Given the description of an element on the screen output the (x, y) to click on. 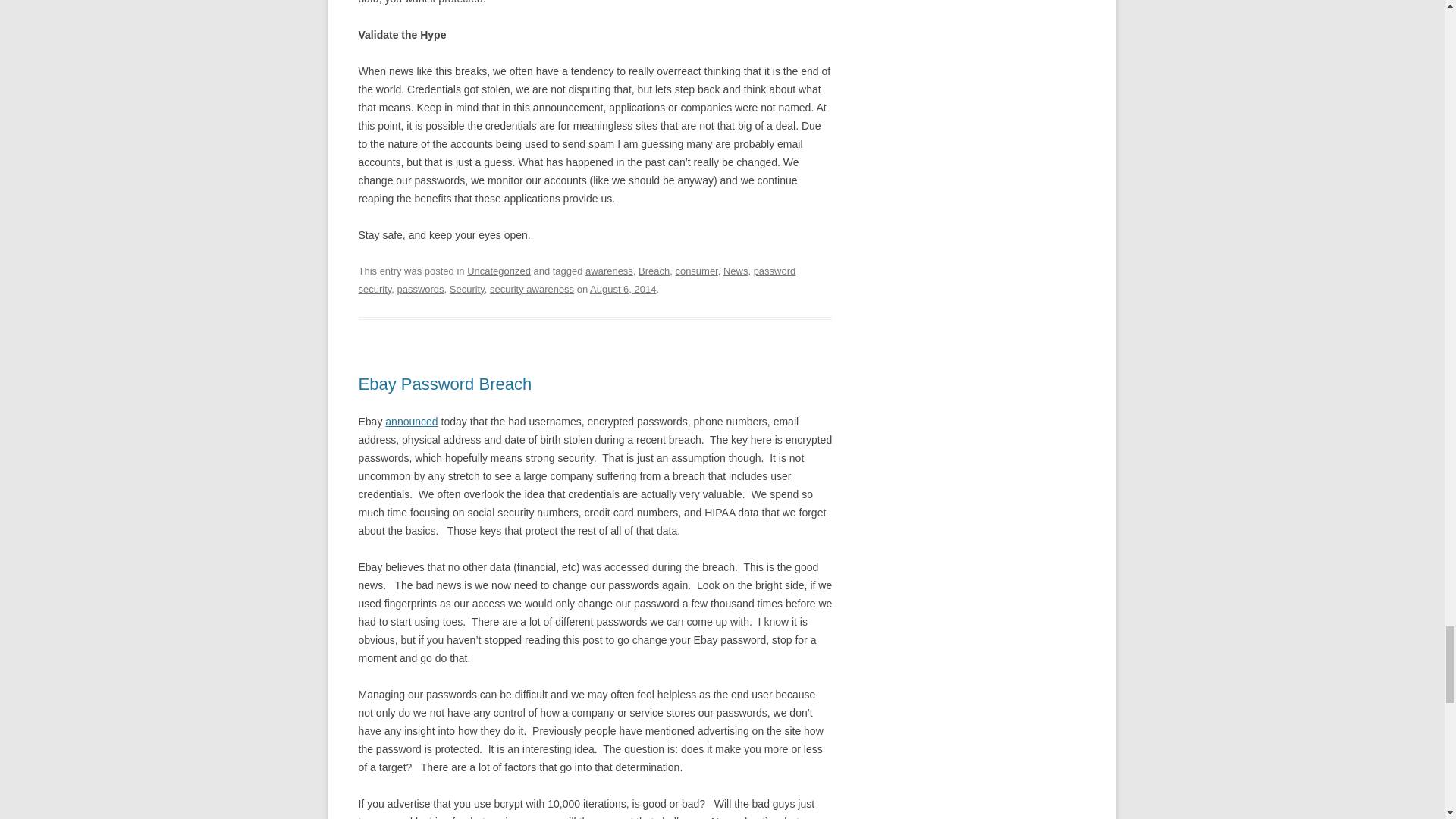
1:28 pm (622, 288)
